Given the description of an element on the screen output the (x, y) to click on. 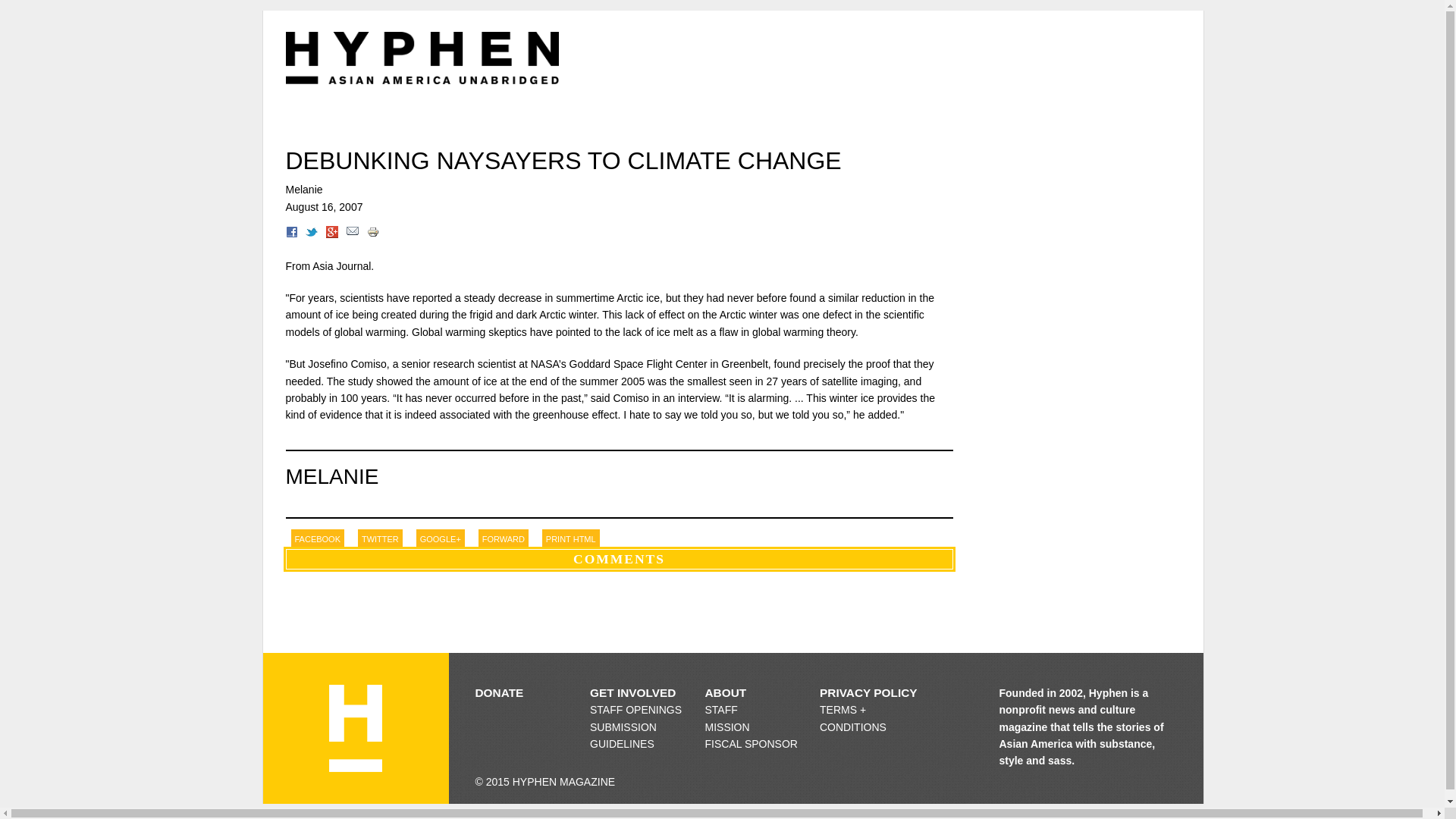
Melanie (303, 189)
Printable version (570, 538)
Share on Facebook (318, 538)
Share on Facebook (291, 234)
Share this on Twitter (311, 234)
Share this on Twitter (380, 538)
MELANIE (331, 476)
Send to a friend (352, 234)
PRINT HTML (570, 538)
Send to a friend (503, 538)
